Given the description of an element on the screen output the (x, y) to click on. 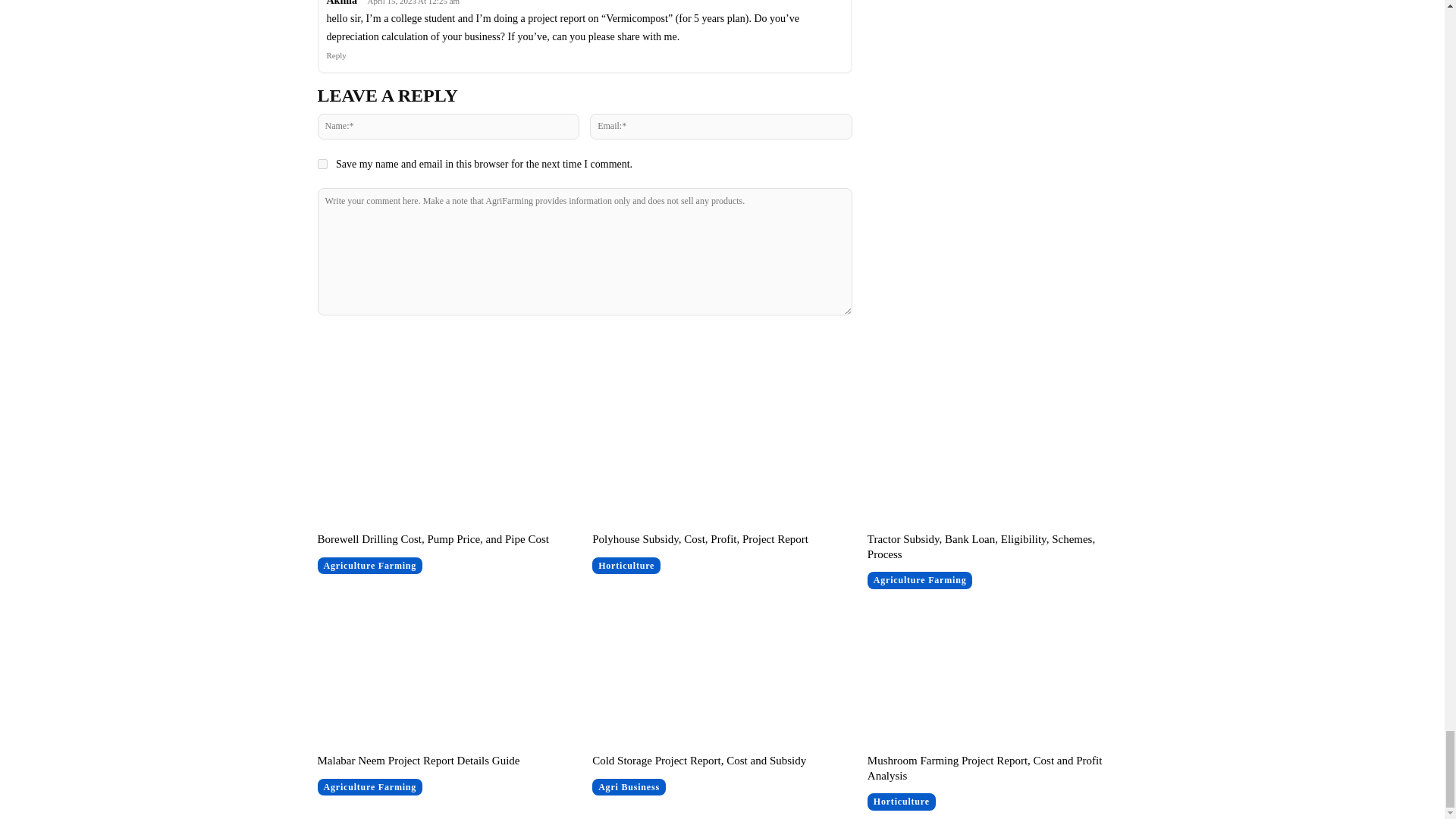
Post Comment (584, 345)
yes (321, 163)
